Given the description of an element on the screen output the (x, y) to click on. 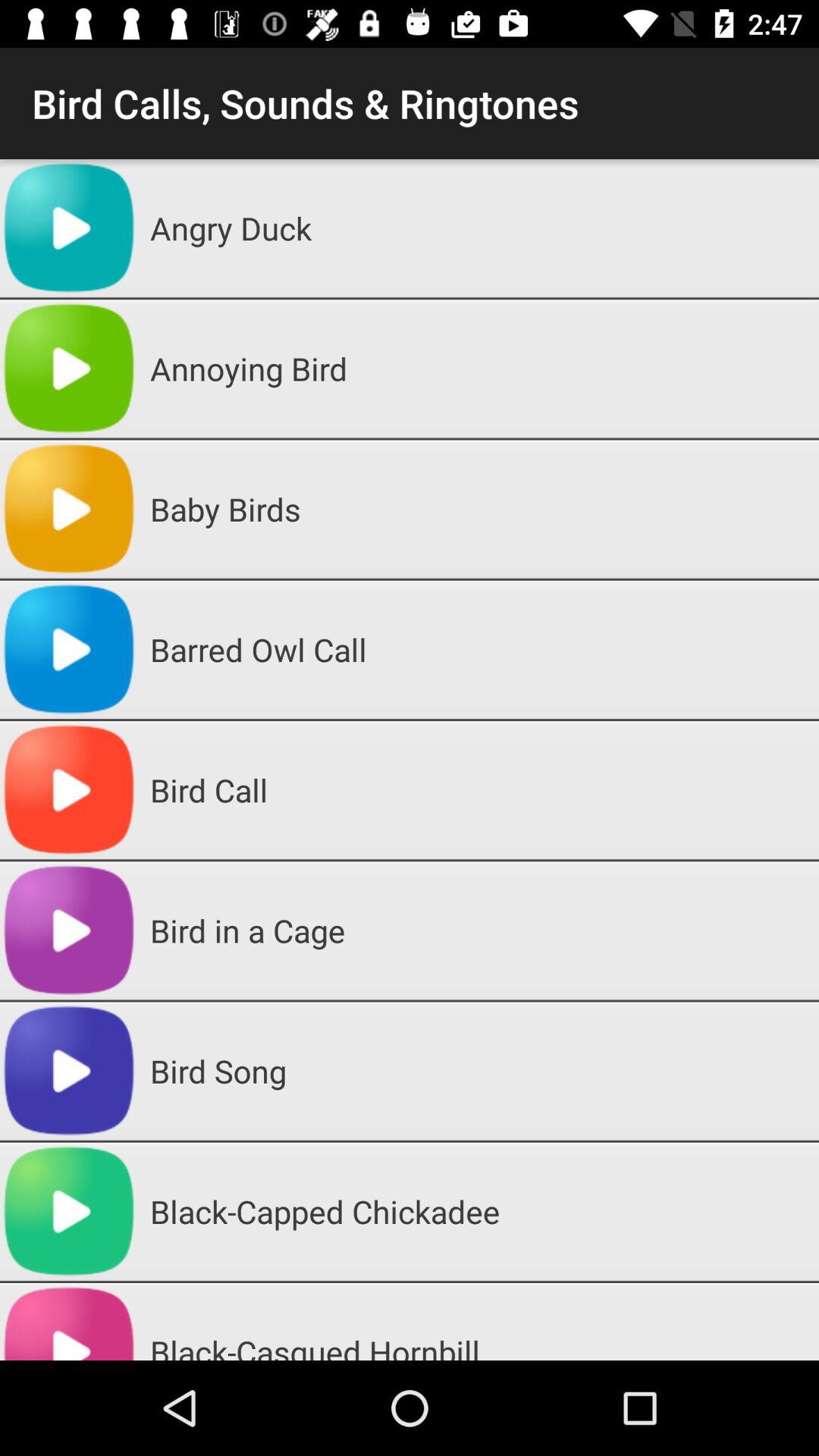
jump to the black-casqued hornbill item (478, 1321)
